Given the description of an element on the screen output the (x, y) to click on. 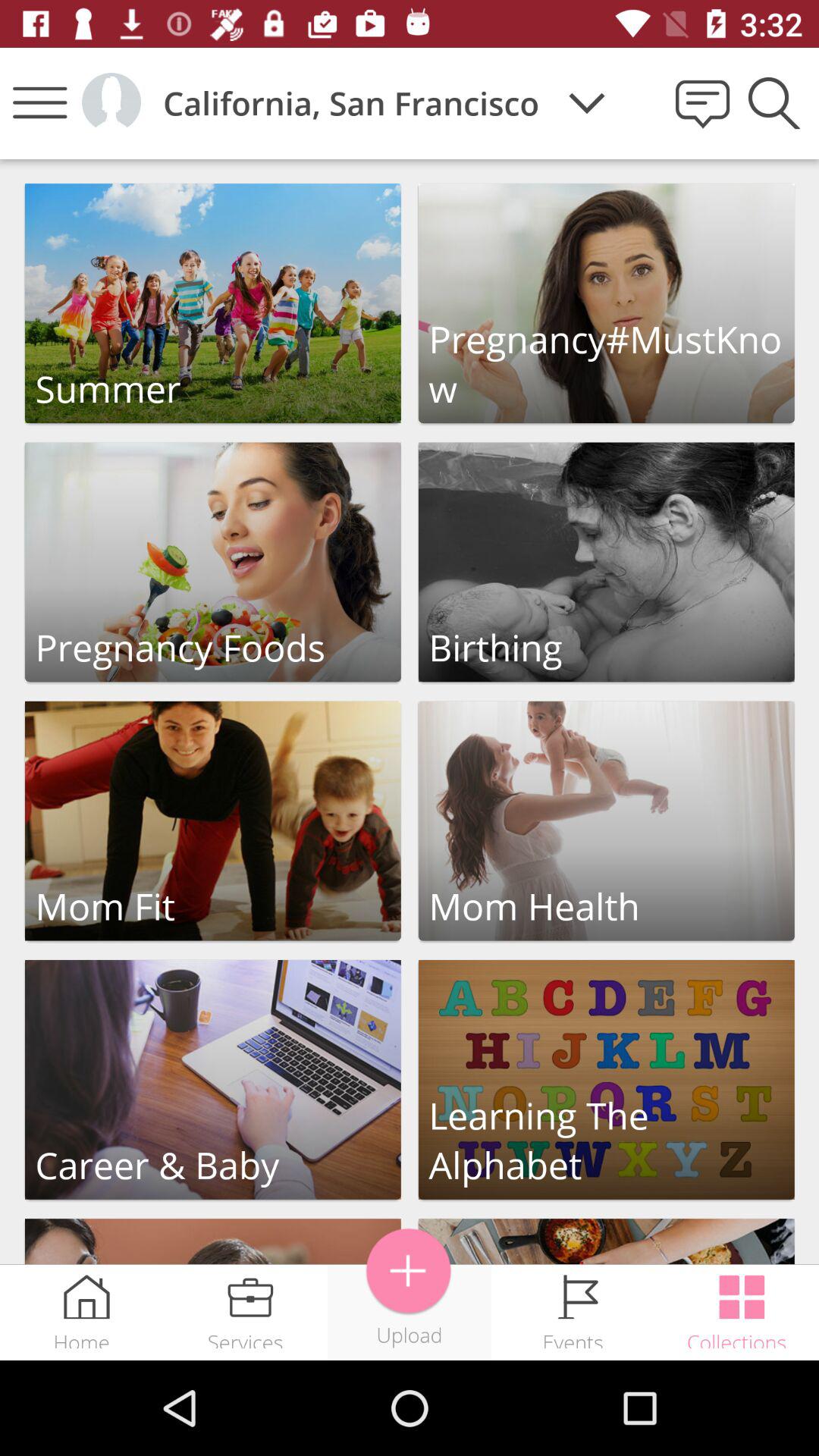
choose item to the left of california, san francisco item (111, 102)
